Given the description of an element on the screen output the (x, y) to click on. 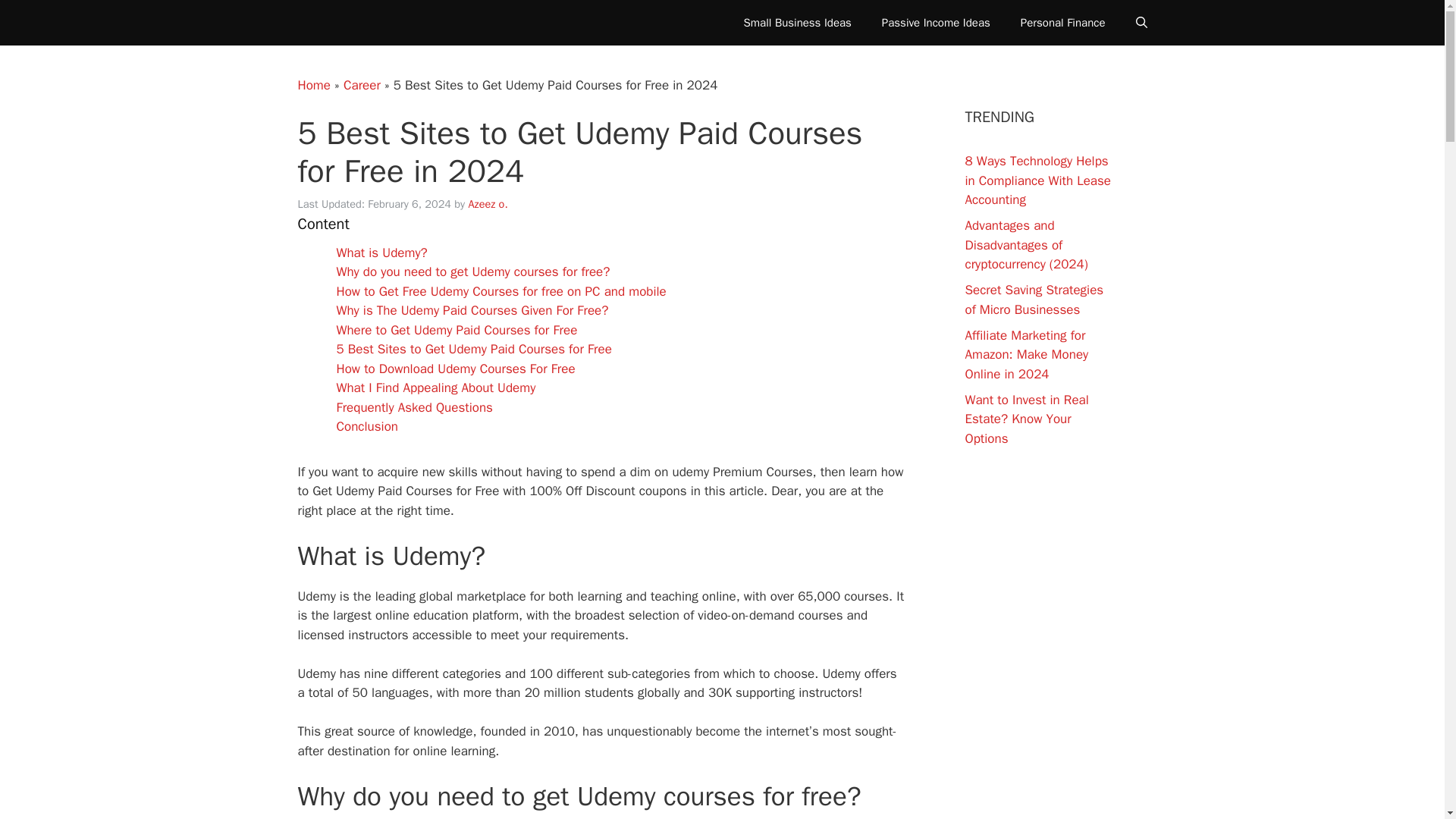
How to Get Free Udemy Courses for free on PC and mobile (501, 291)
Azeez o. (488, 203)
View all posts by Azeez o. (488, 203)
Why is The Udemy Paid Courses Given For Free? (472, 310)
Conclusion (366, 426)
Career (361, 84)
Passive Income Ideas (936, 22)
5 Best Sites to Get Udemy Paid Courses for Free (473, 349)
Home (313, 84)
Where to Get Udemy Paid Courses for Free (457, 330)
